Given the description of an element on the screen output the (x, y) to click on. 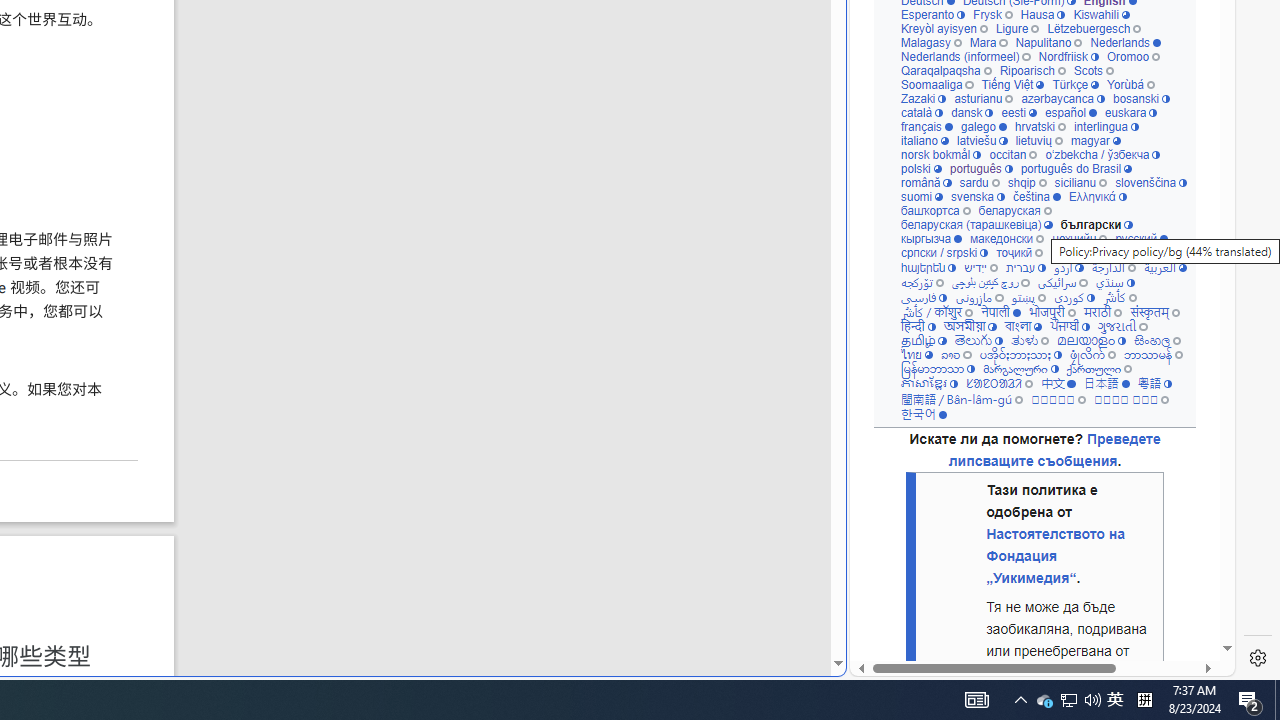
svenska (976, 195)
Nederlands (1126, 42)
suomi (921, 195)
Qaraqalpaqsha (945, 70)
euskara (1130, 112)
